Given the description of an element on the screen output the (x, y) to click on. 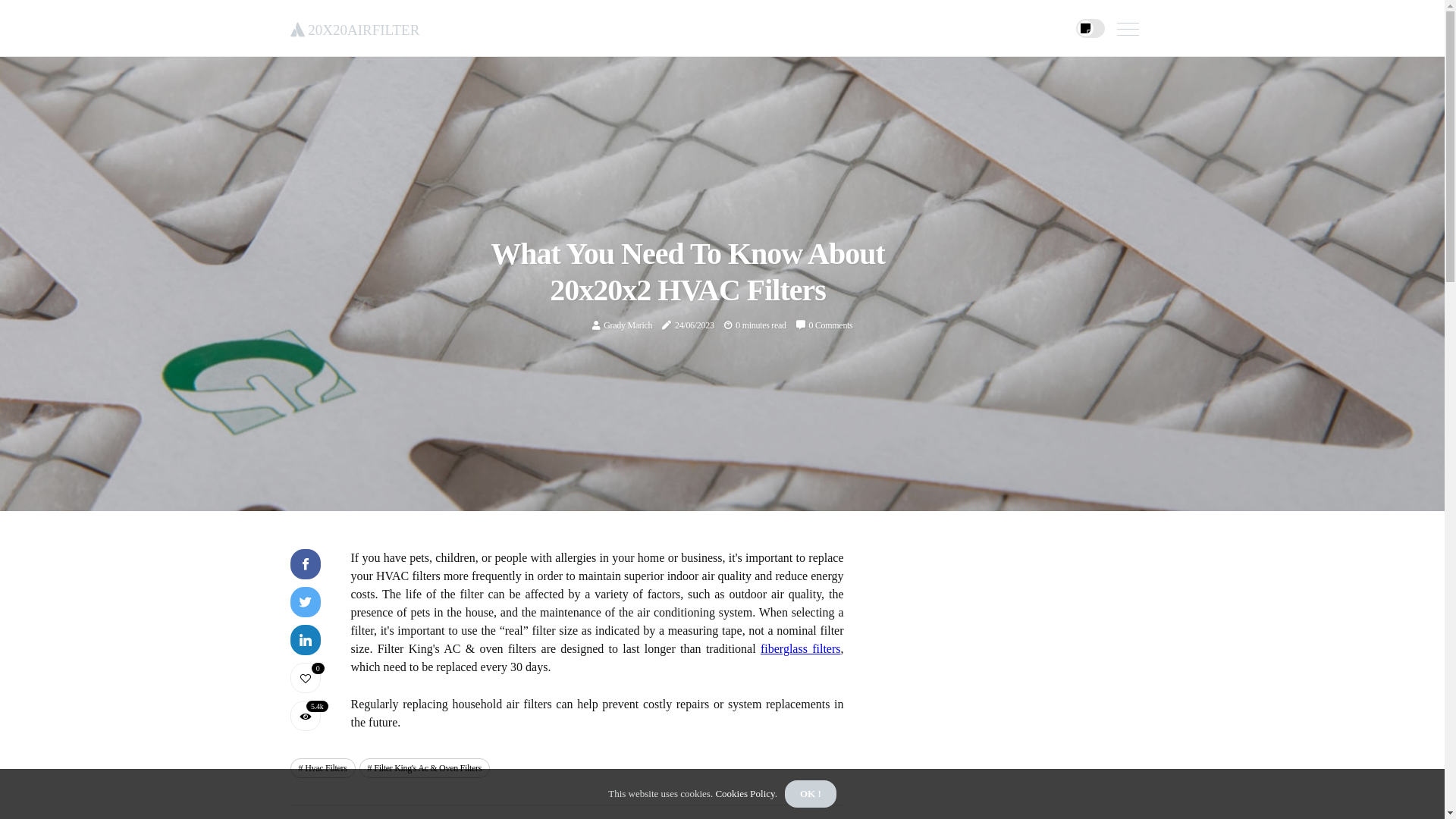
Hvac Filters Element type: text (321, 768)
20x20airfilter Element type: text (354, 26)
Filter King'S Ac & Oven Filters Element type: text (424, 768)
fiberglass filters Element type: text (800, 648)
Grady Marich Element type: text (627, 325)
Cookies Policy Element type: text (743, 793)
0 Comments Element type: text (830, 325)
0 Element type: text (304, 677)
